Given the description of an element on the screen output the (x, y) to click on. 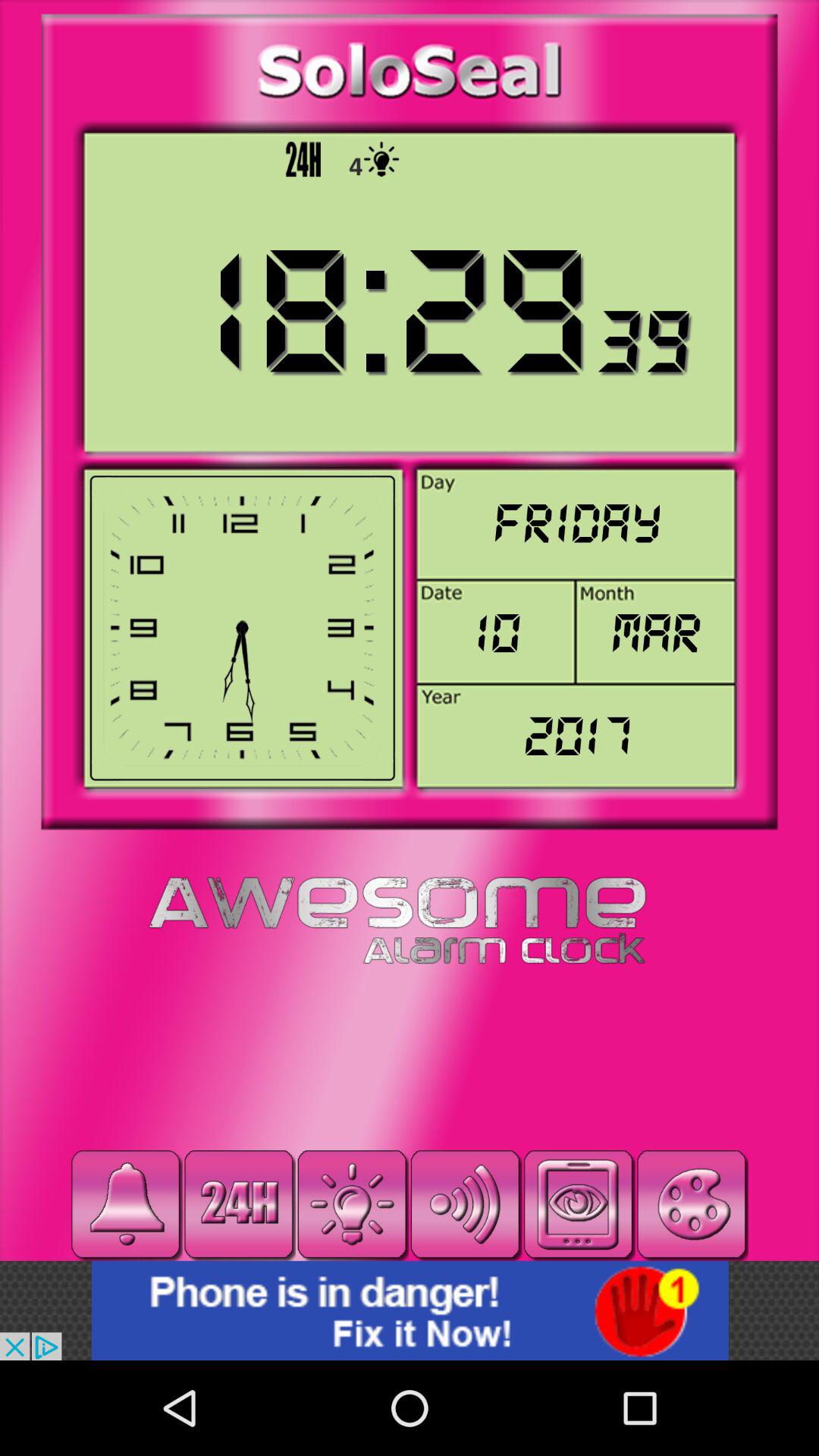
colors (691, 1203)
